Given the description of an element on the screen output the (x, y) to click on. 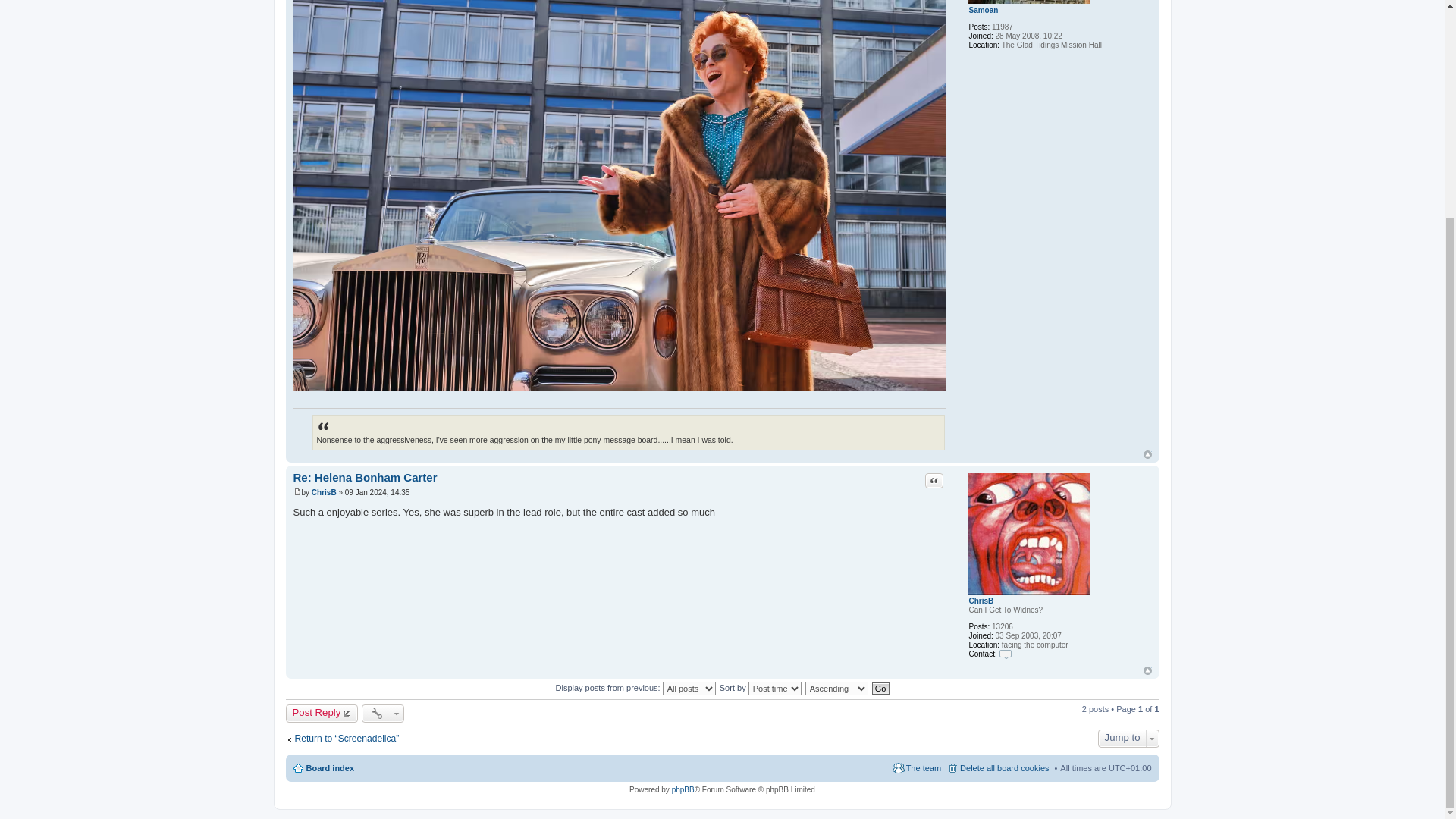
Topic tools (382, 713)
ChrisB (323, 492)
Post a reply (321, 713)
Top (1146, 454)
Re: Helena Bonham Carter (364, 477)
Contact ChrisB (1004, 654)
Samoan (982, 9)
Top (1146, 670)
ChrisB (980, 601)
Post (296, 491)
Reply with quote (933, 480)
Post (296, 492)
Top (1146, 454)
Go (880, 688)
Top (1146, 670)
